Given the description of an element on the screen output the (x, y) to click on. 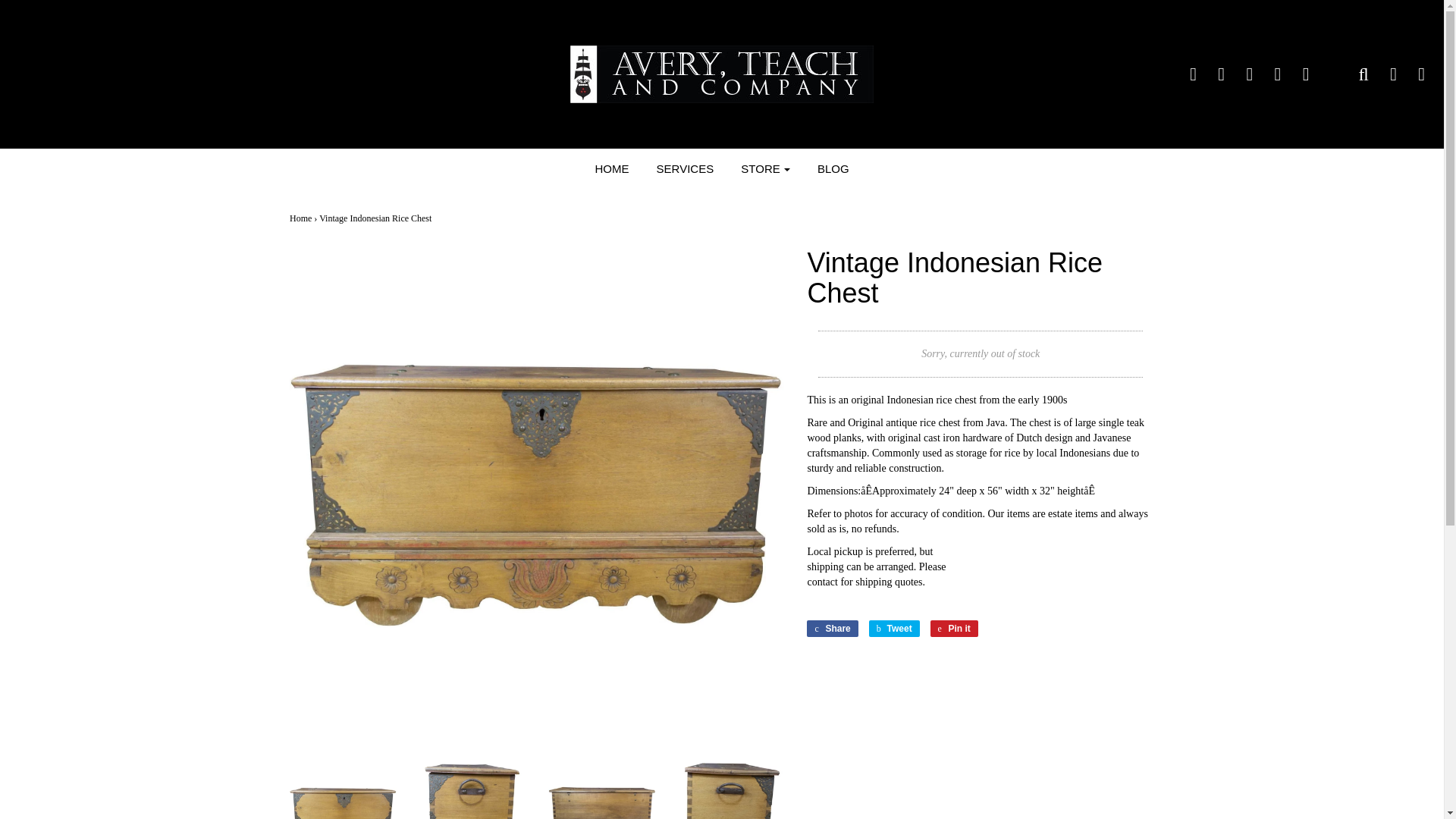
Log in (1383, 74)
Your Cart (1412, 74)
STORE (764, 168)
SERVICES (685, 168)
HOME (611, 168)
Search (1353, 74)
